Given the description of an element on the screen output the (x, y) to click on. 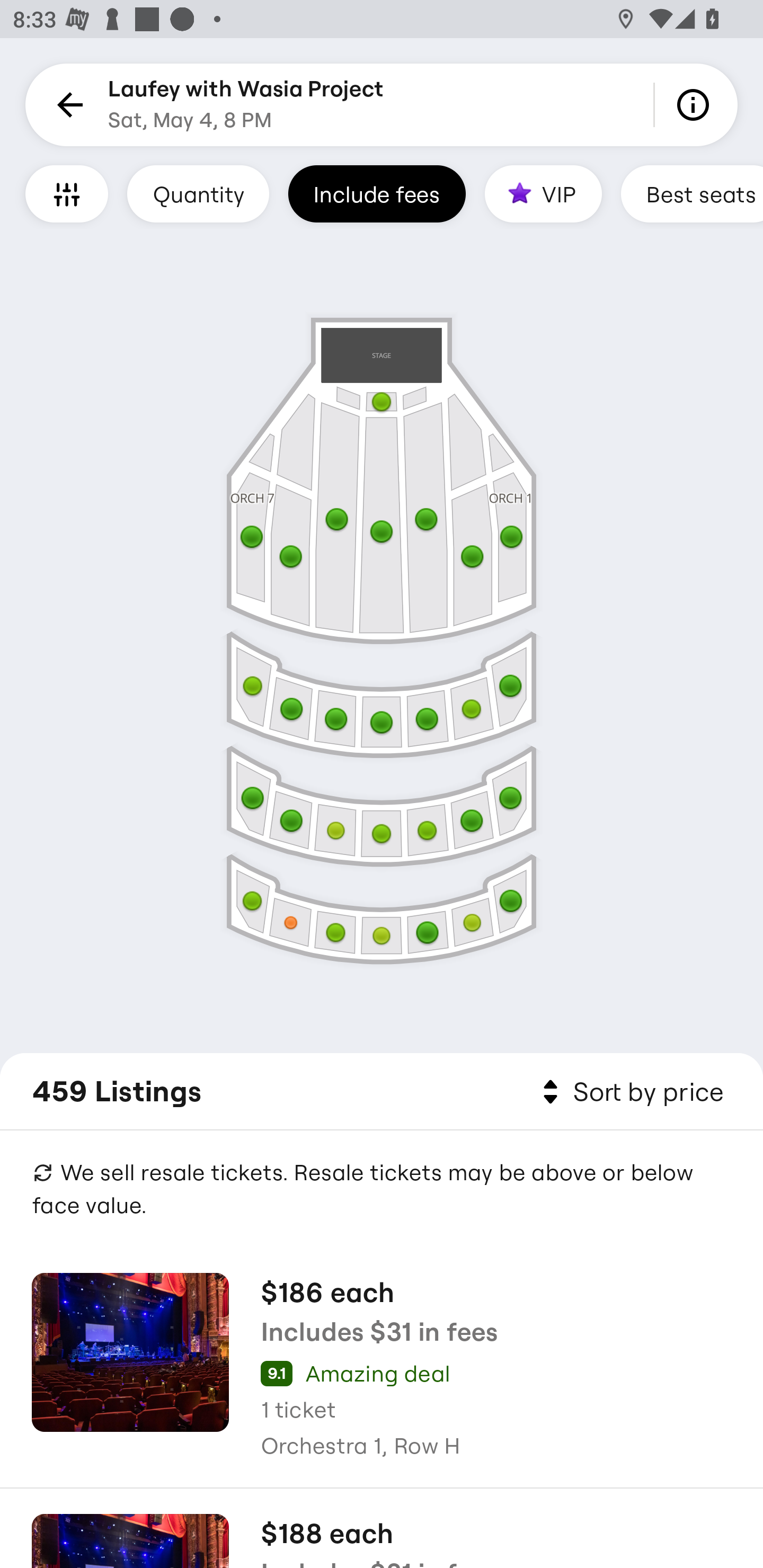
Back (66, 104)
Laufey with Wasia Project Sat, May 4, 8 PM (245, 104)
Info (695, 104)
Filters and Accessible Seating (66, 193)
Quantity (198, 193)
Include fees (376, 193)
VIP (543, 193)
Best seats (692, 193)
Sort by price (629, 1091)
